Given the description of an element on the screen output the (x, y) to click on. 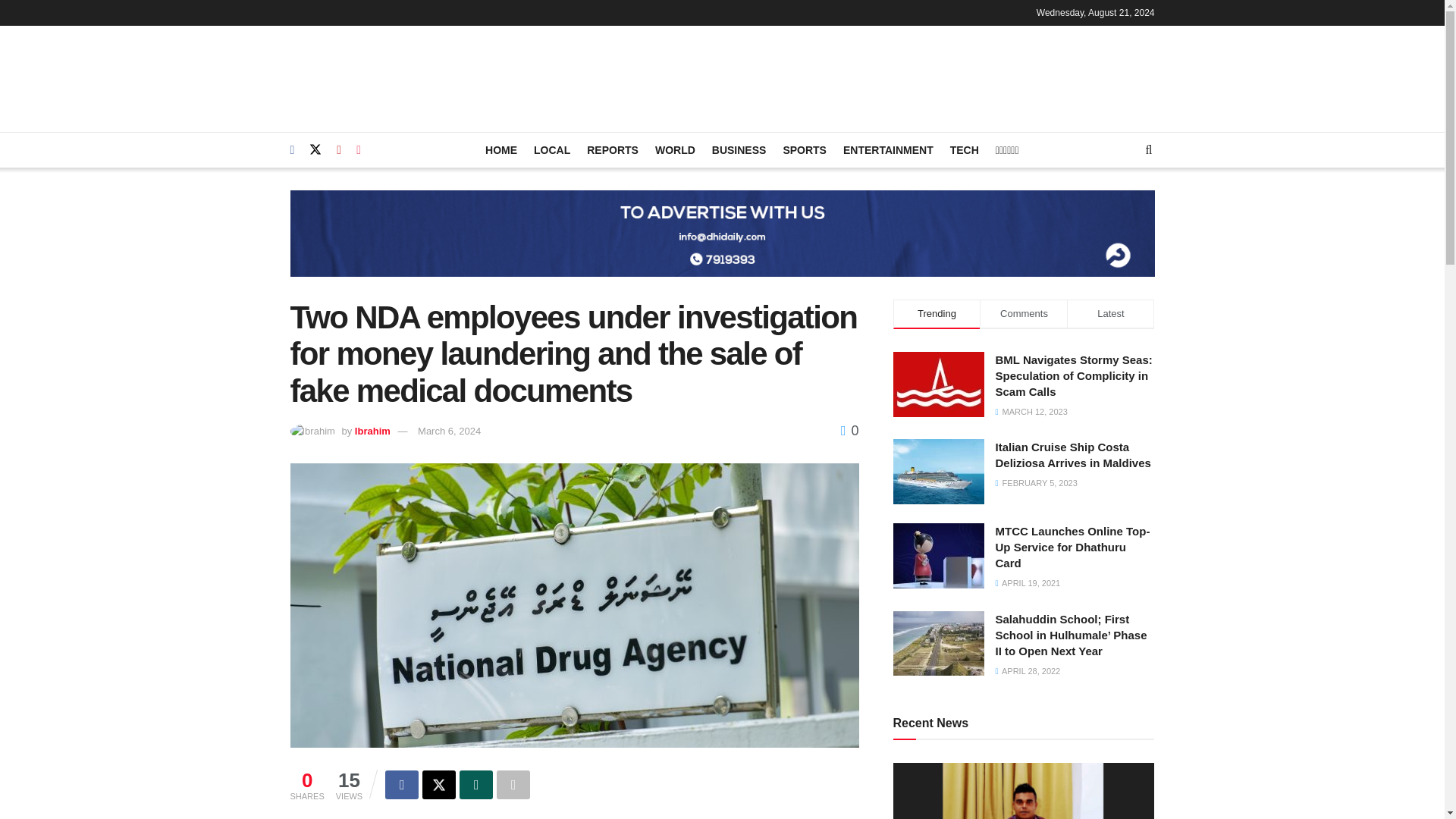
REPORTS (612, 149)
Ibrahim (372, 430)
HOME (500, 149)
ENTERTAINMENT (888, 149)
March 6, 2024 (448, 430)
SPORTS (805, 149)
TECH (964, 149)
0 (850, 430)
BUSINESS (739, 149)
LOCAL (552, 149)
